Given the description of an element on the screen output the (x, y) to click on. 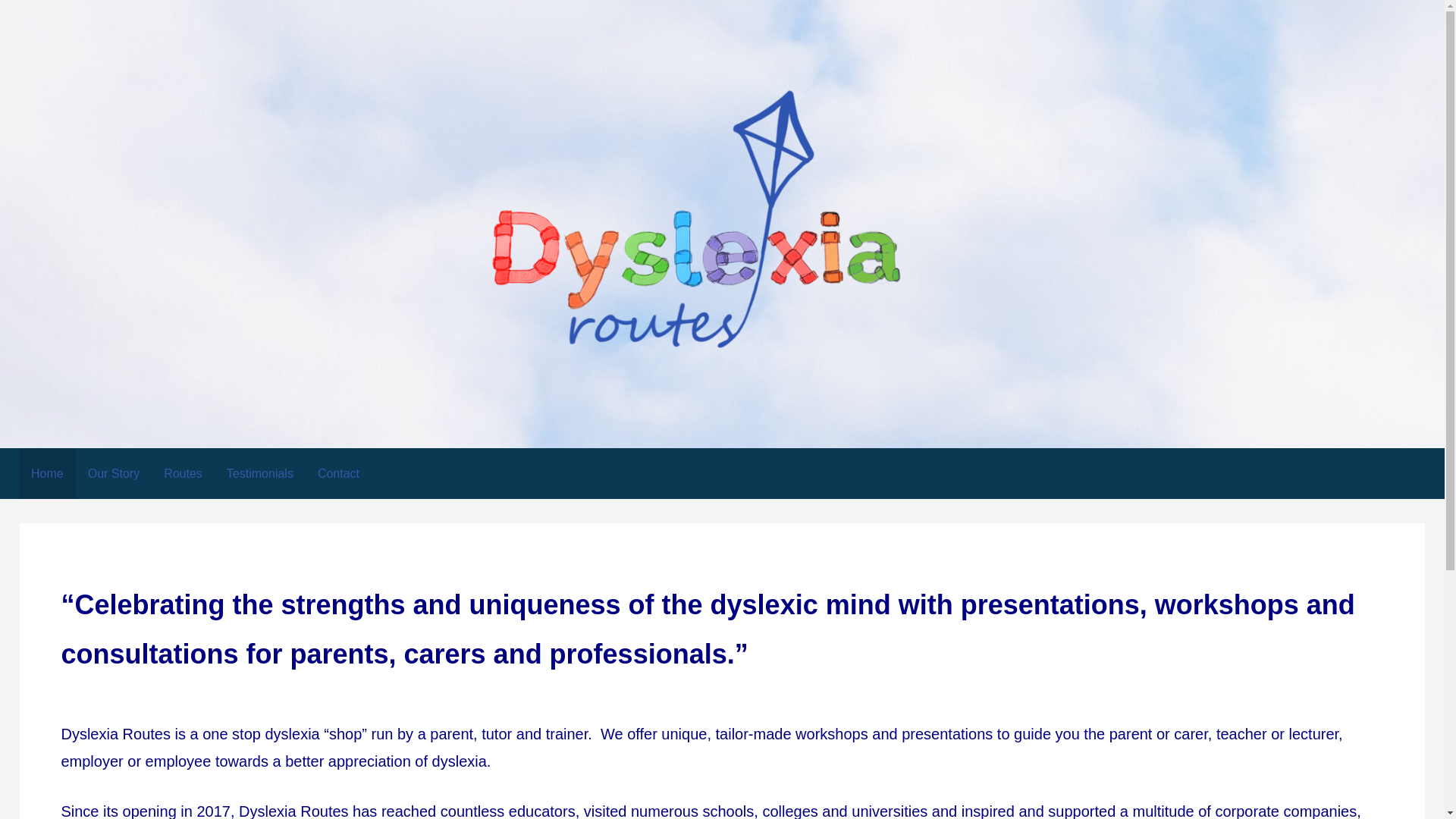
Our Story (113, 472)
Dyslexia Routes (120, 379)
Contact (338, 472)
Home (46, 472)
Routes (182, 472)
Testimonials (259, 472)
